Given the description of an element on the screen output the (x, y) to click on. 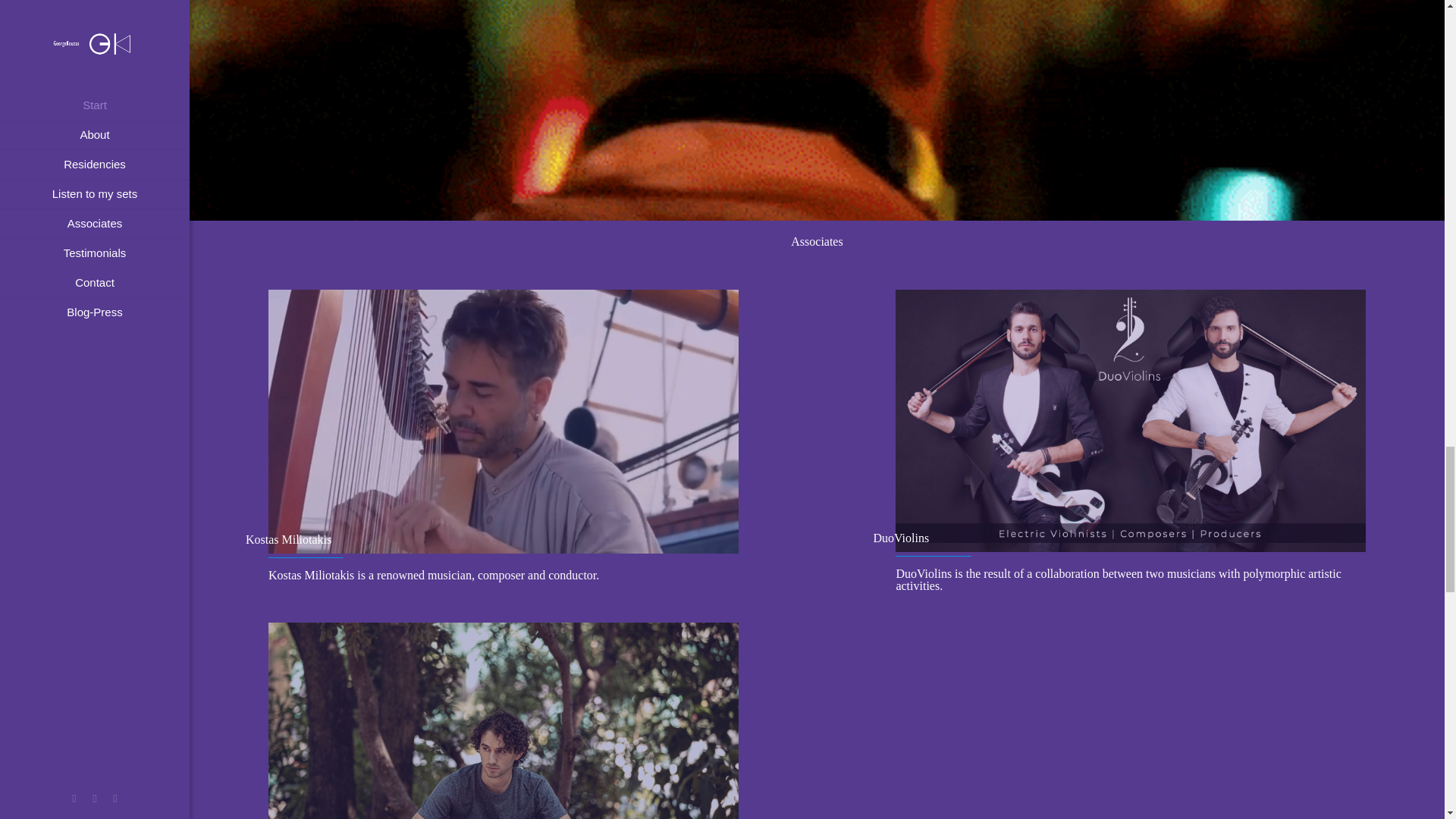
DuoViolins (1130, 422)
Fivos Bozas (502, 720)
Kostas Miliotakis (502, 423)
